Given the description of an element on the screen output the (x, y) to click on. 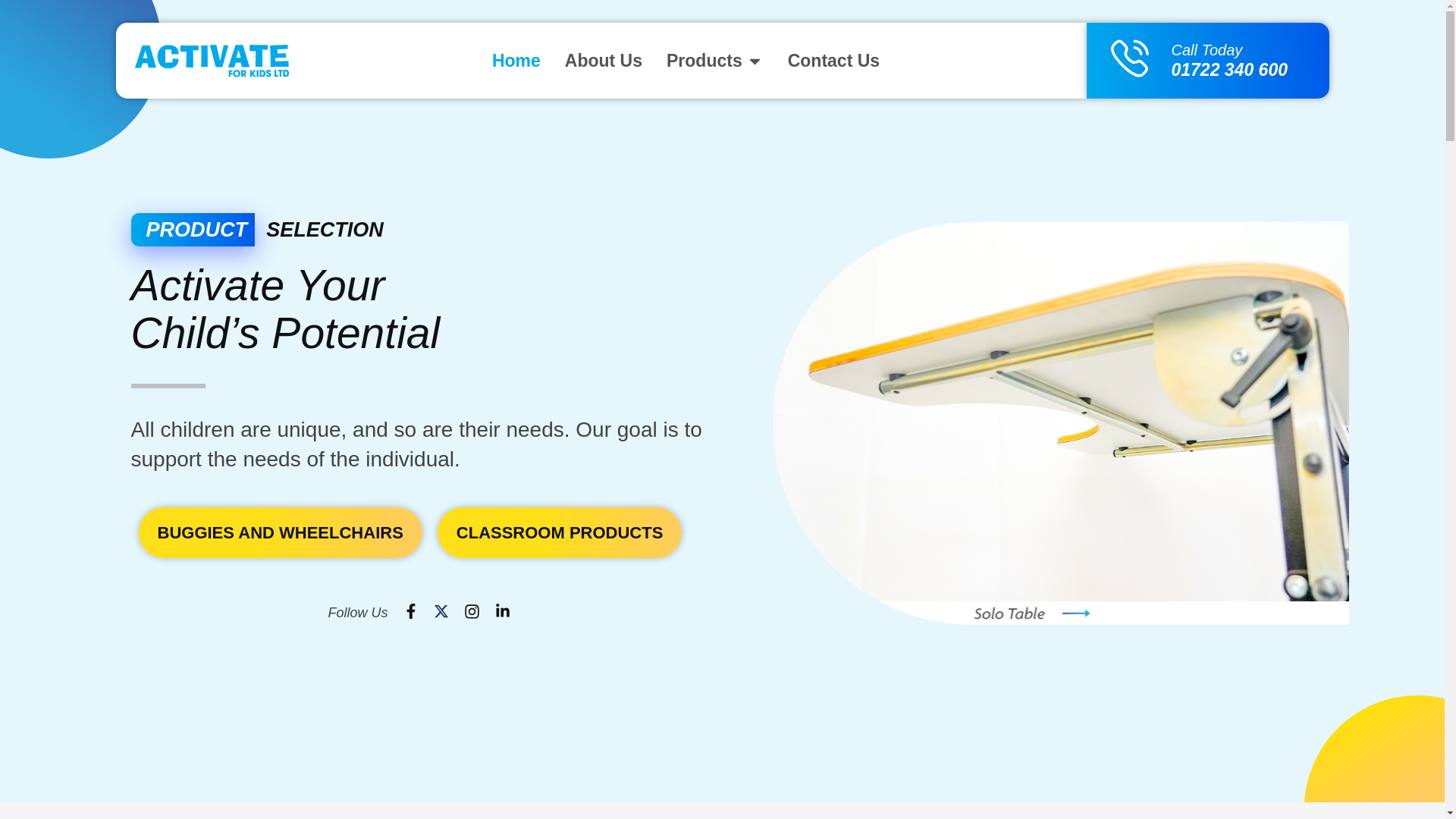
Contact Us (833, 60)
Home (516, 60)
About Us (603, 60)
